Given the description of an element on the screen output the (x, y) to click on. 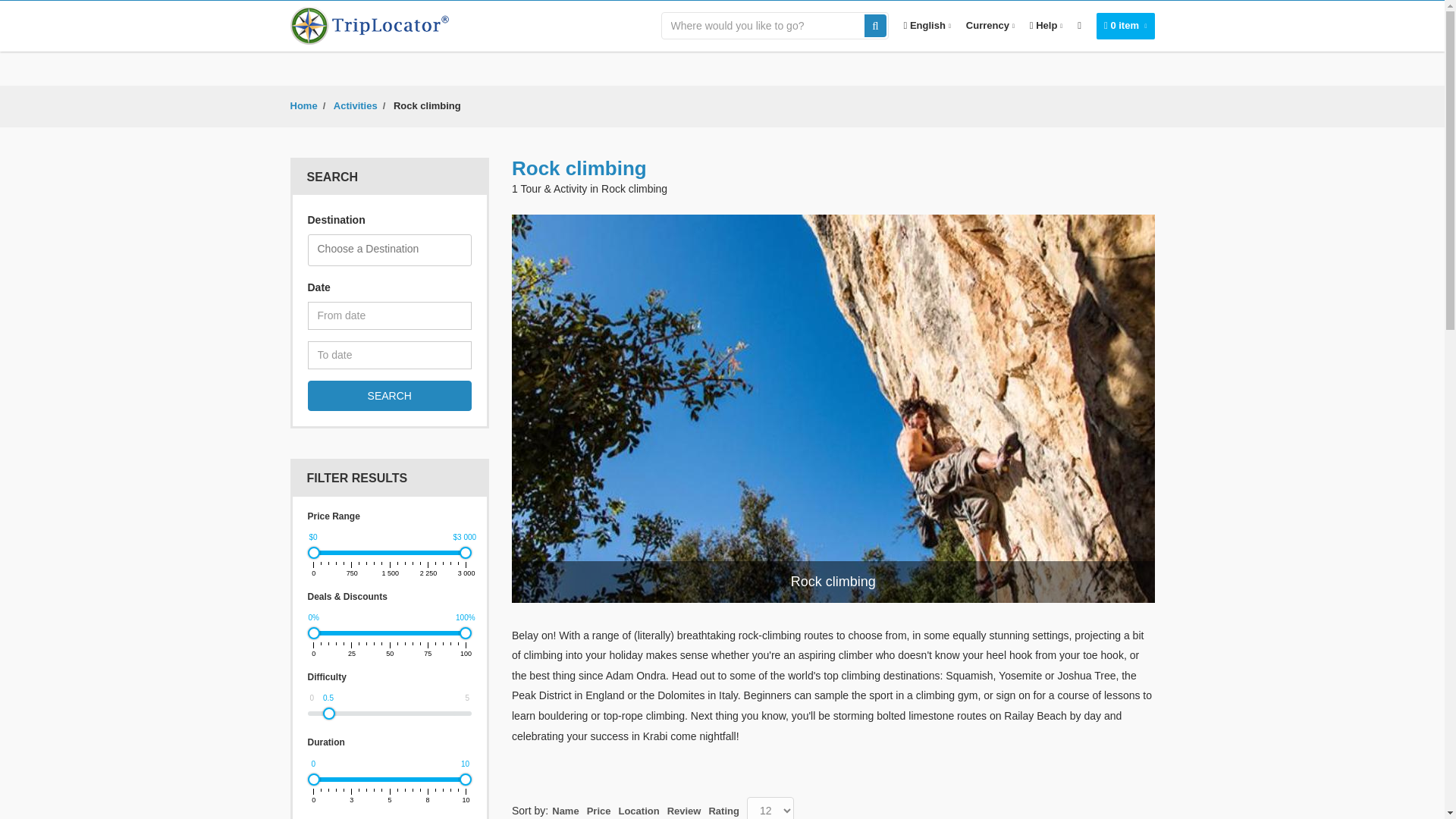
Location (638, 810)
Currency (990, 26)
SEARCH (389, 395)
Home (303, 105)
English (927, 26)
Activities (355, 105)
0 item (1125, 26)
Price (598, 810)
Rating (722, 810)
Help (1046, 26)
Review (683, 810)
